Given the description of an element on the screen output the (x, y) to click on. 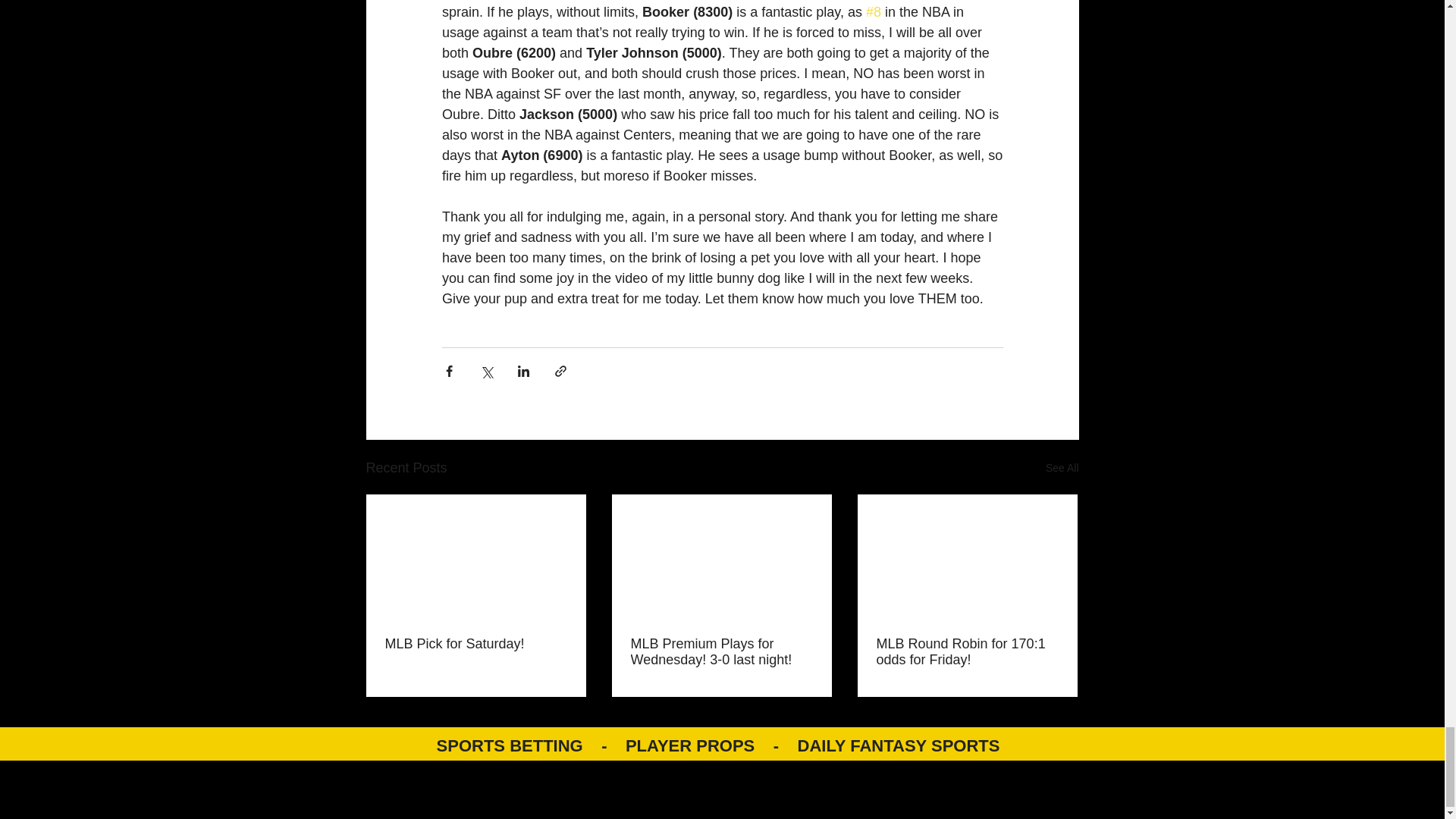
MLB Pick for Saturday! (476, 643)
MLB Round Robin for 170:1 odds for Friday! (967, 652)
MLB Premium Plays for Wednesday! 3-0 last night! (721, 652)
See All (1061, 468)
